Given the description of an element on the screen output the (x, y) to click on. 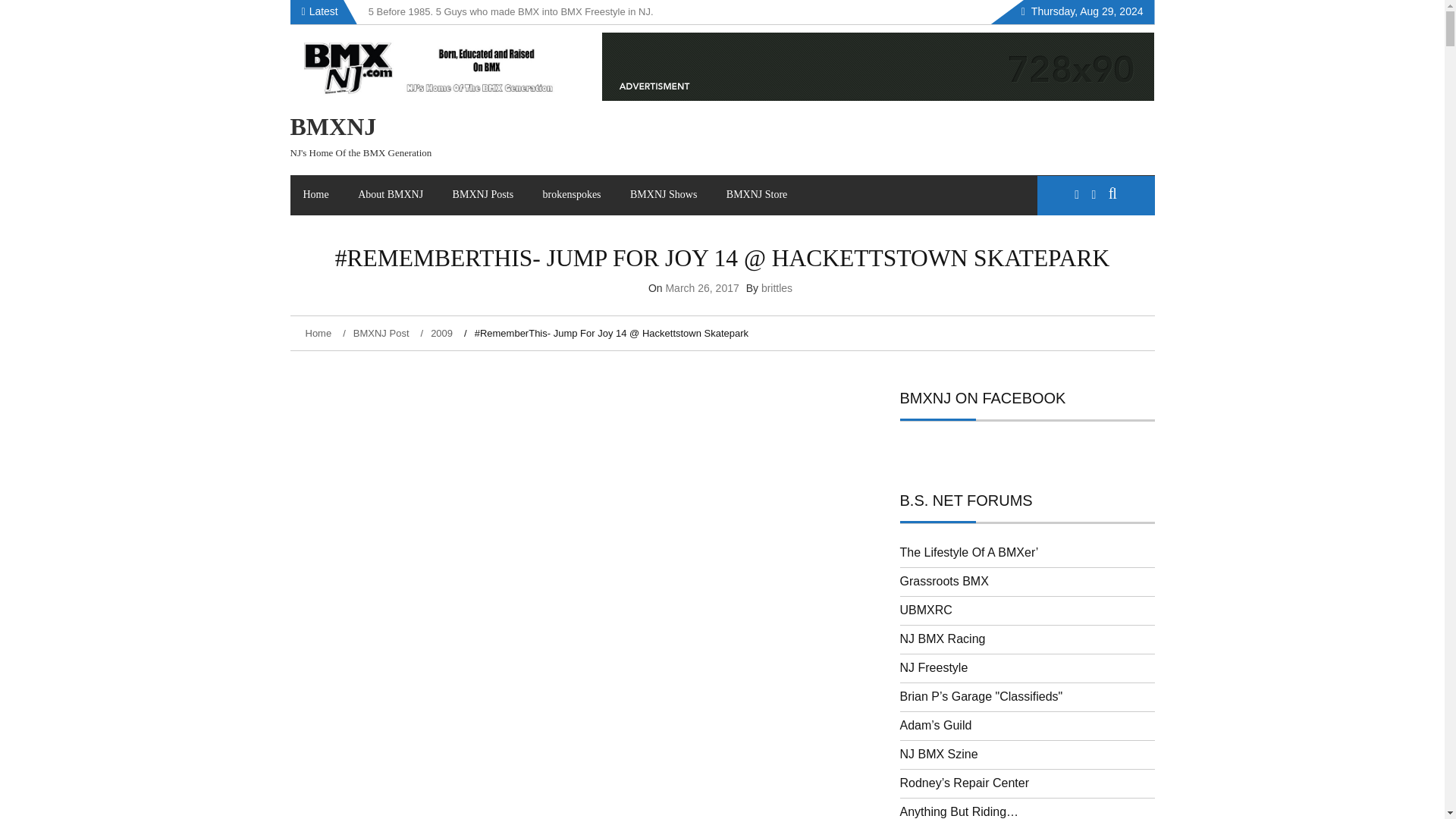
BMXNJ Posts (483, 194)
brokenspokes (571, 194)
BMXNJ Shows (663, 194)
About BMXNJ (390, 194)
5 Before 1985. 5 Guys who made BMX into BMX Freestyle in NJ. (510, 11)
Home (314, 194)
BMXNJ (332, 126)
